Given the description of an element on the screen output the (x, y) to click on. 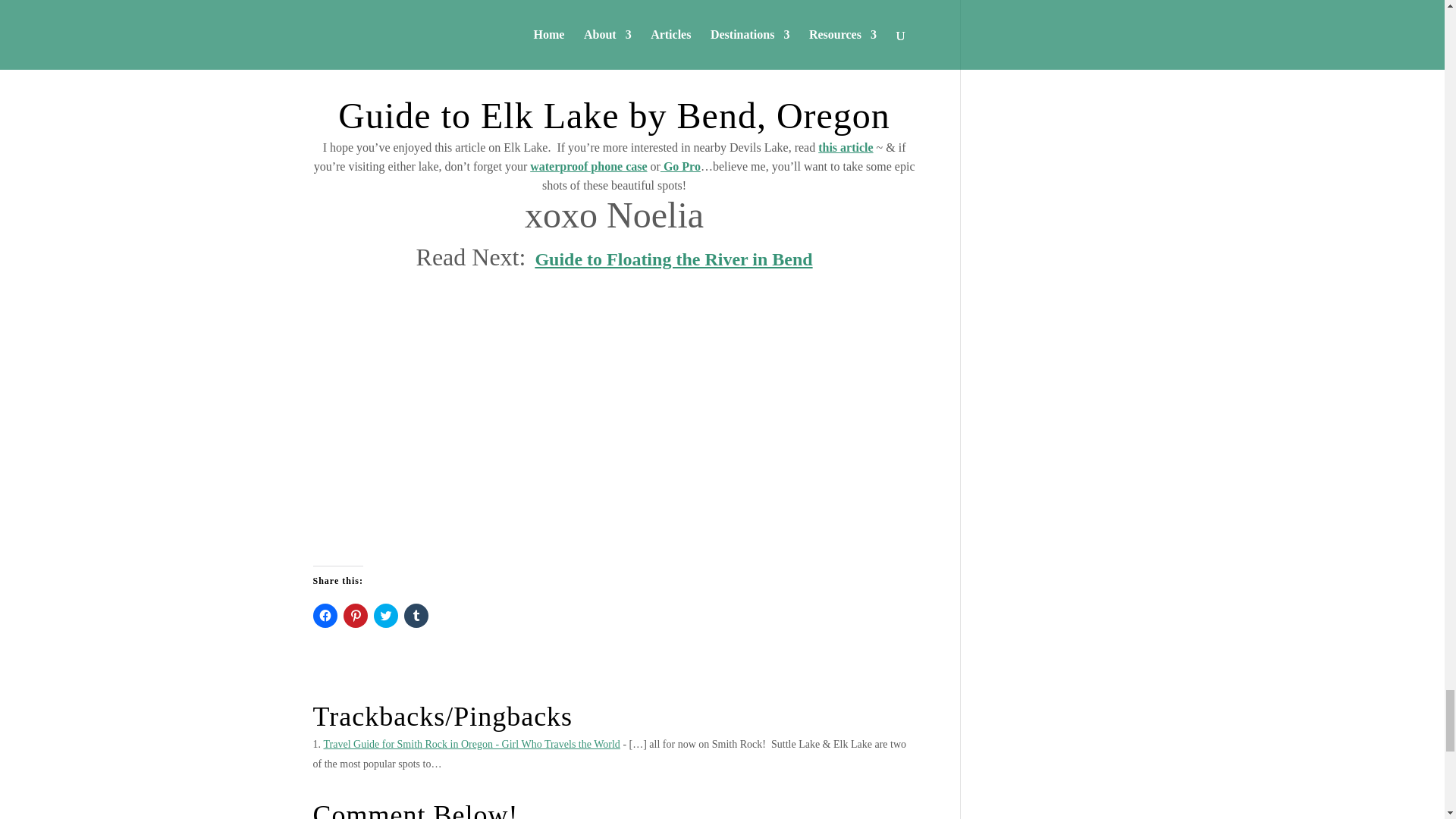
Click to share on Tumblr (415, 615)
waterproof phone case (587, 165)
Go Pro (680, 165)
Click to share on Pinterest (354, 615)
Click to share on Facebook (324, 615)
this article (845, 146)
Click to share on Twitter (384, 615)
